Given the description of an element on the screen output the (x, y) to click on. 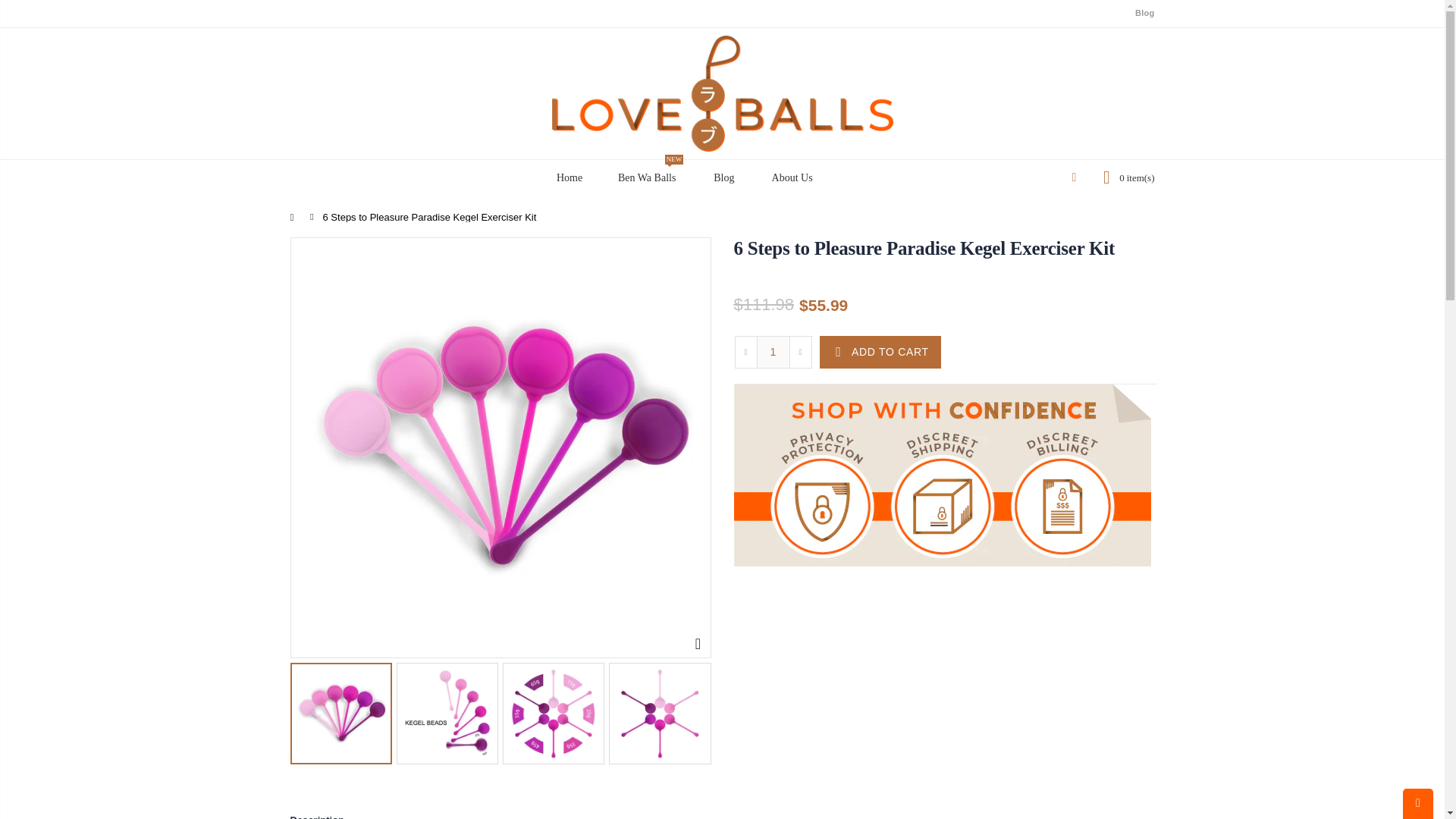
6 Steps to Pleasure Paradise Kegel Exerciser Kit (924, 248)
1 (773, 351)
Back to the frontpage (295, 216)
About Us (791, 177)
ADD TO CART (879, 351)
Home (567, 177)
Blog (1144, 12)
Home (295, 216)
Blog (722, 177)
privacy banner (942, 475)
